Given the description of an element on the screen output the (x, y) to click on. 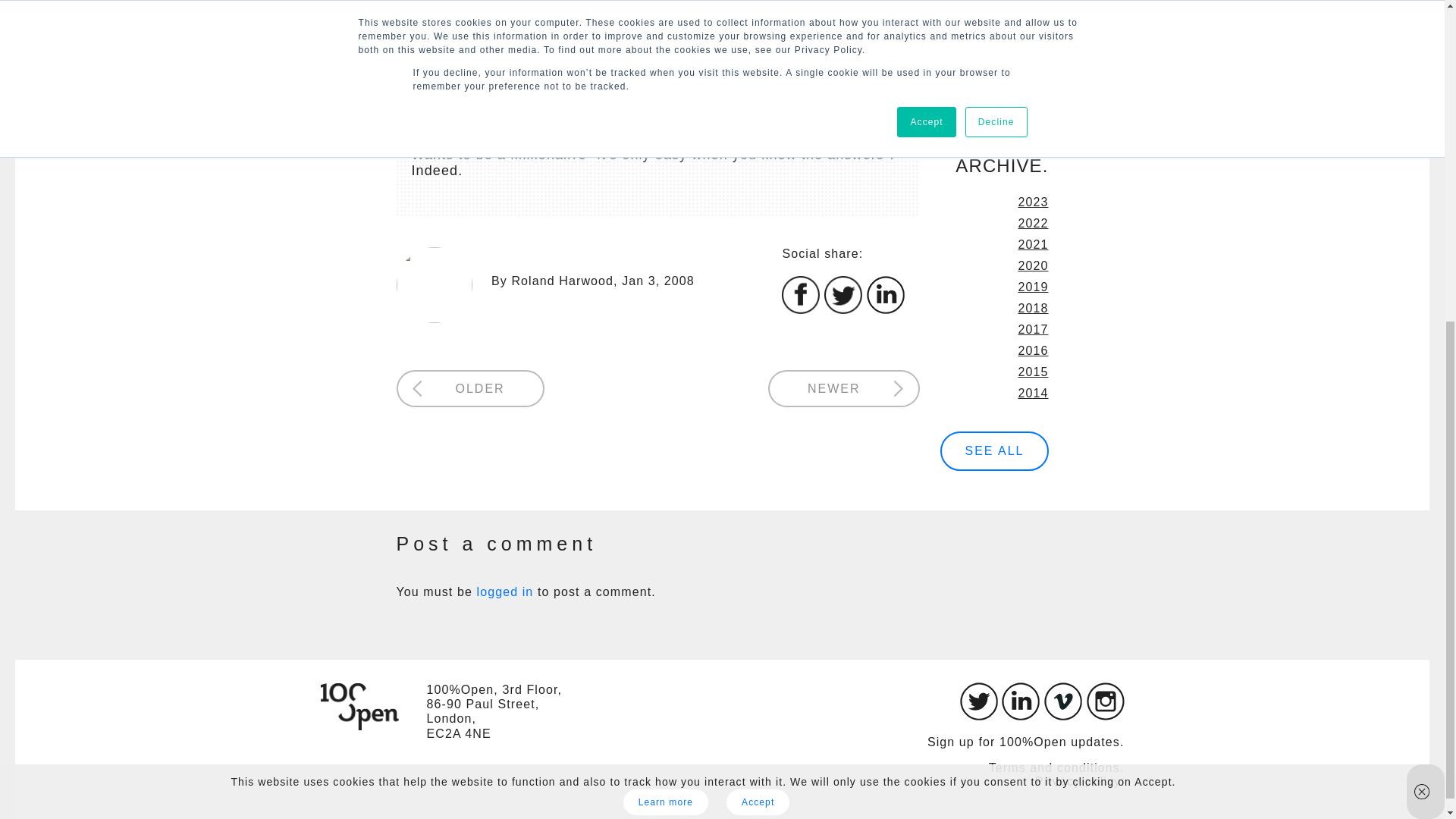
NEWER (844, 388)
2017 (1032, 328)
2016 (1032, 350)
See us on Instagram (1105, 716)
2020 (1032, 265)
OLDER (469, 388)
Share on Twitter (842, 309)
Shorts on Vimeo (1062, 716)
Share on Facebook (800, 309)
Find us on Twitter (978, 716)
INCLUSIVE INNOVATION FOR NET ZERO (995, 64)
Connect with us on LinkedIn (1020, 716)
Share on Linkedin (885, 309)
2022 (1032, 223)
2019 (1032, 286)
